Given the description of an element on the screen output the (x, y) to click on. 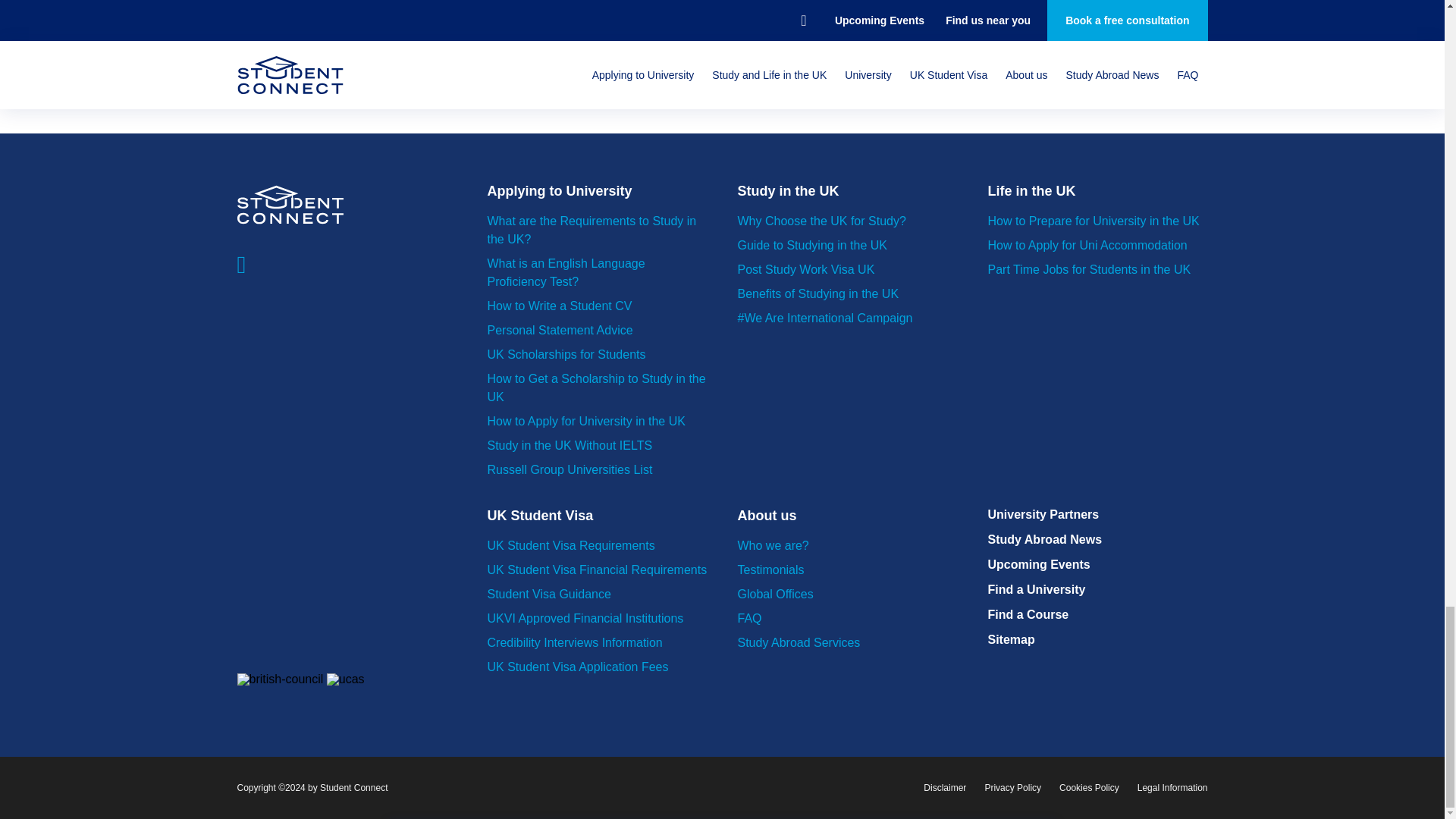
1 (721, 79)
british-council (279, 679)
ucas (345, 679)
